Given the description of an element on the screen output the (x, y) to click on. 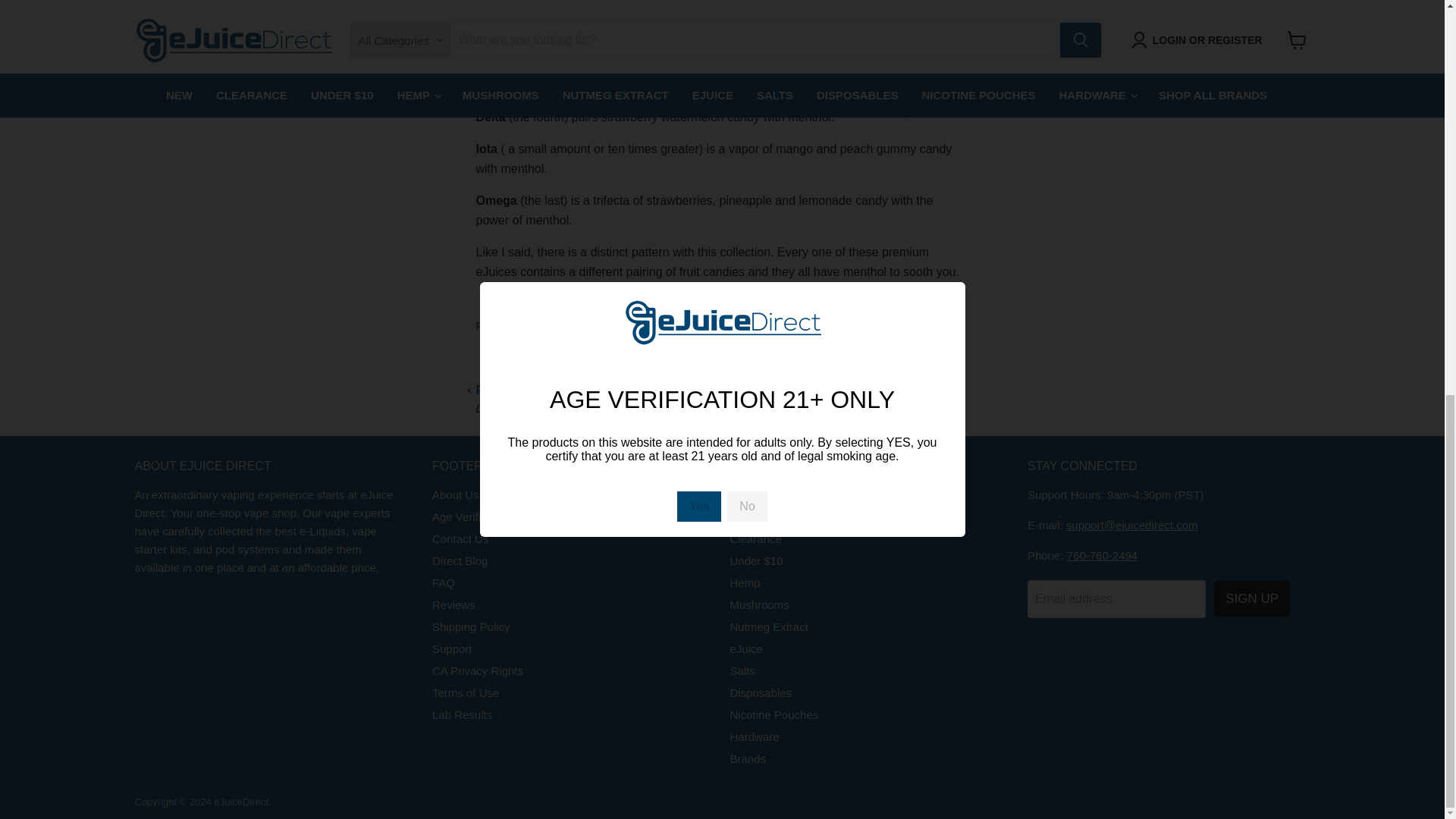
Show articles tagged Classic (573, 326)
Show articles tagged Brand (532, 326)
tel:760-760-2494 (1102, 554)
